Given the description of an element on the screen output the (x, y) to click on. 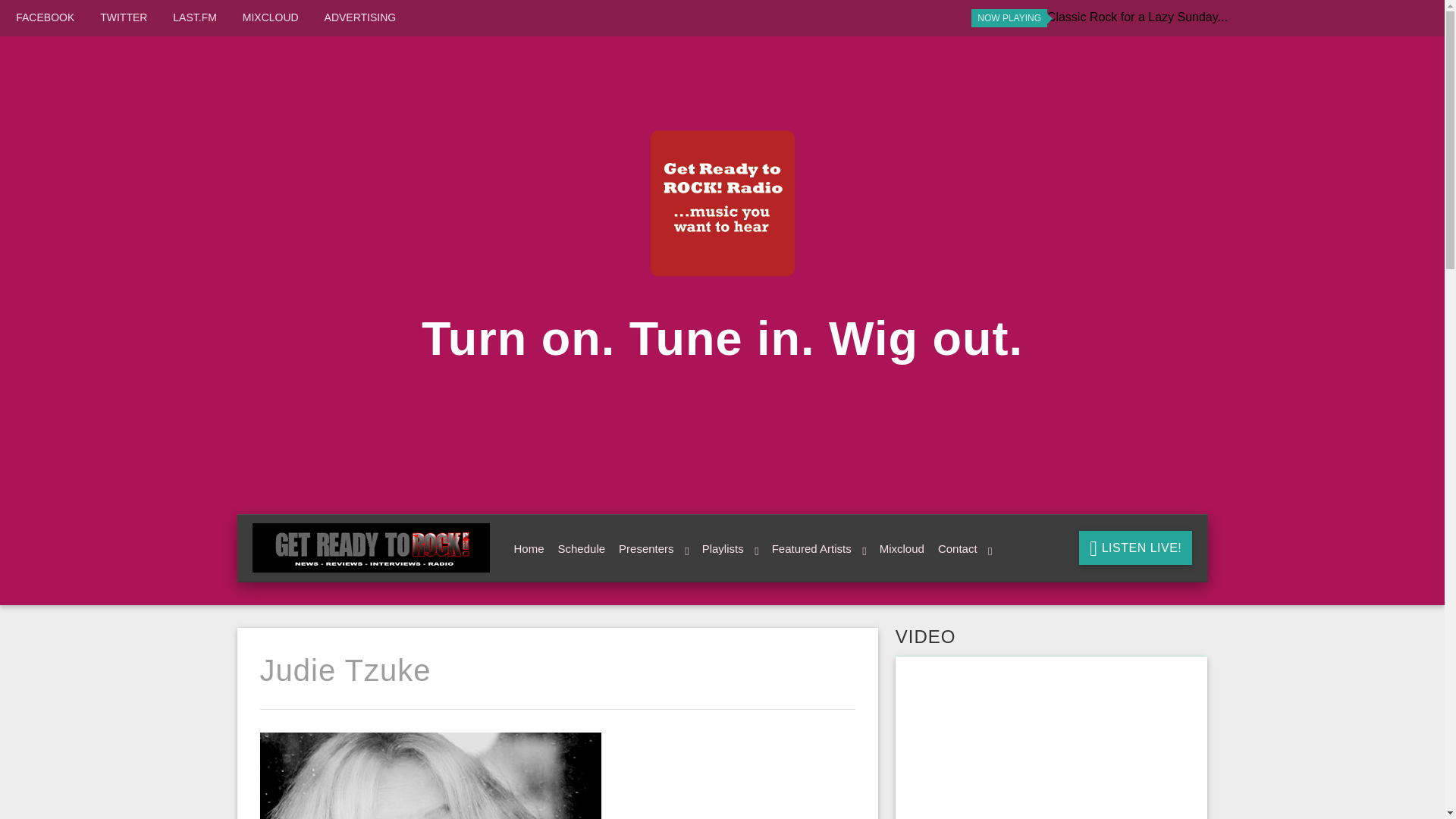
Featured Artists (816, 549)
LISTEN LIVE! (1135, 547)
TWITTER (123, 17)
Home (526, 549)
Mixcloud (899, 549)
ADVERTISING (360, 17)
FACEBOOK (45, 17)
Contact (961, 549)
MIXCLOUD (270, 17)
Schedule (579, 549)
Playlists (727, 549)
LAST.FM (194, 17)
Presenters (651, 549)
